Given the description of an element on the screen output the (x, y) to click on. 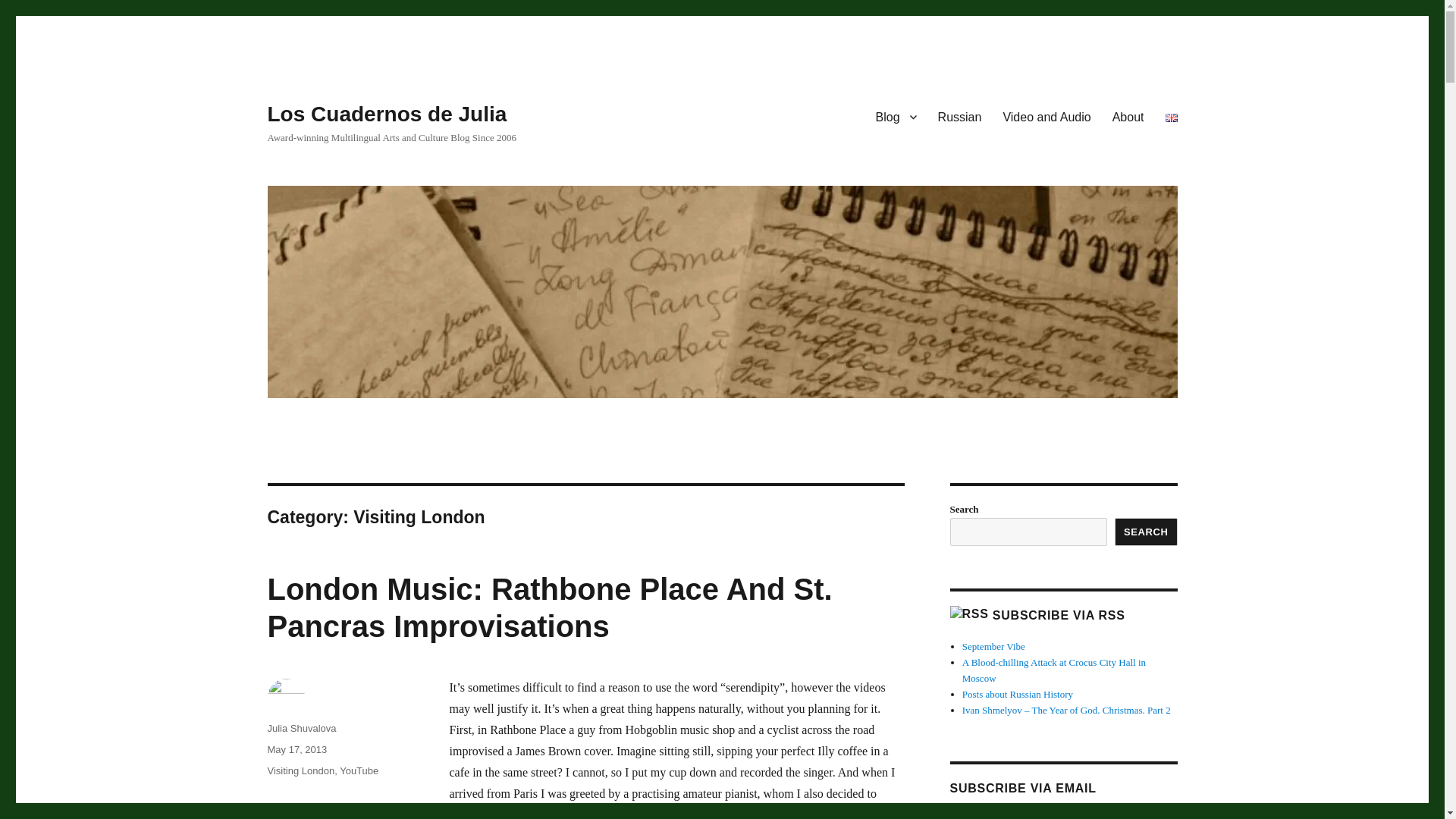
May 17, 2013 (296, 749)
Russian (959, 116)
Blog (895, 116)
About (1128, 116)
Julia Shuvalova (301, 727)
London Music: Rathbone Place And St. Pancras Improvisations (548, 607)
Video and Audio (1045, 116)
Los Cuadernos de Julia (386, 114)
Visiting London (300, 770)
YouTube (358, 770)
